Given the description of an element on the screen output the (x, y) to click on. 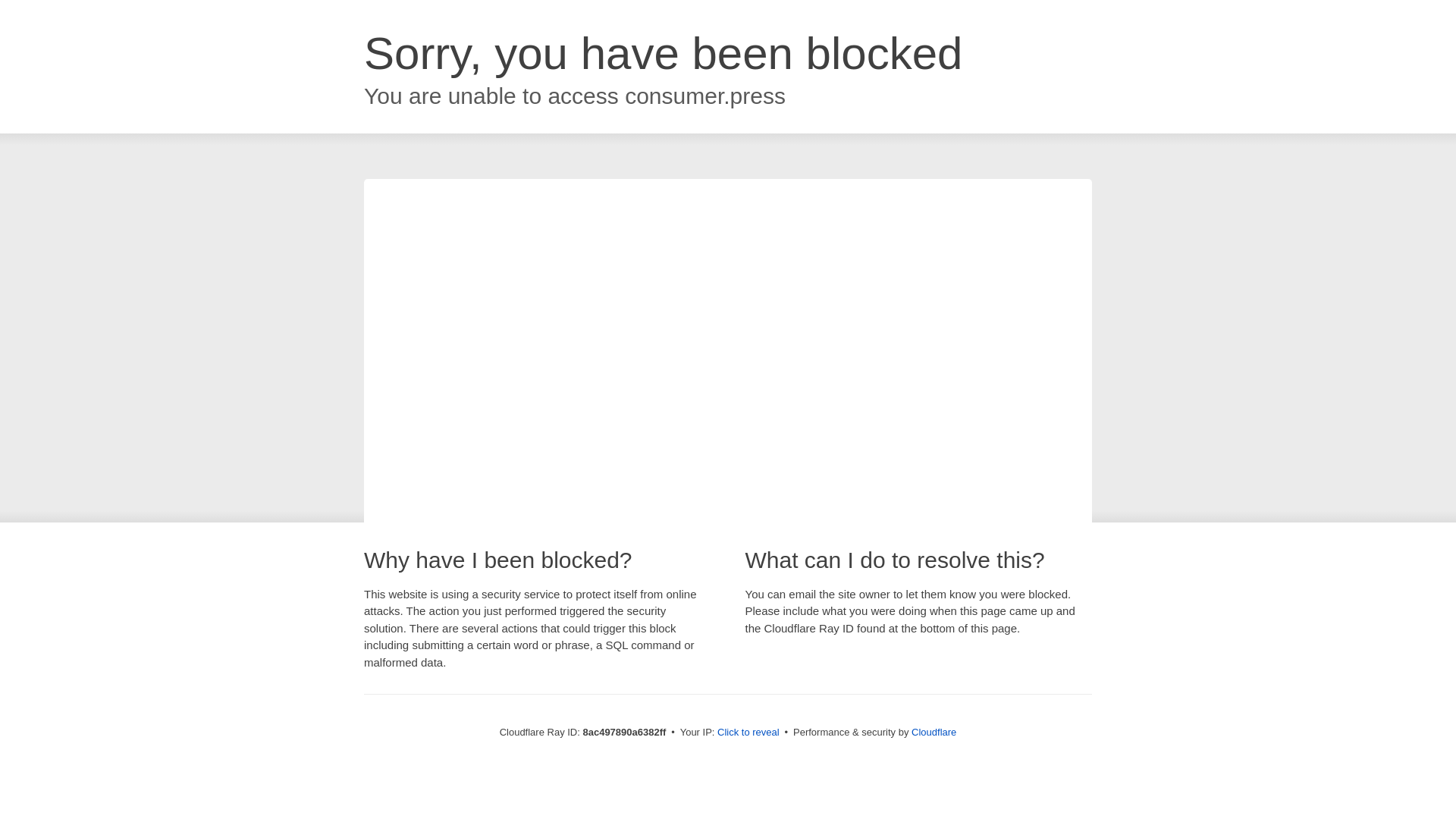
Click to reveal (747, 732)
Cloudflare (933, 731)
